Given the description of an element on the screen output the (x, y) to click on. 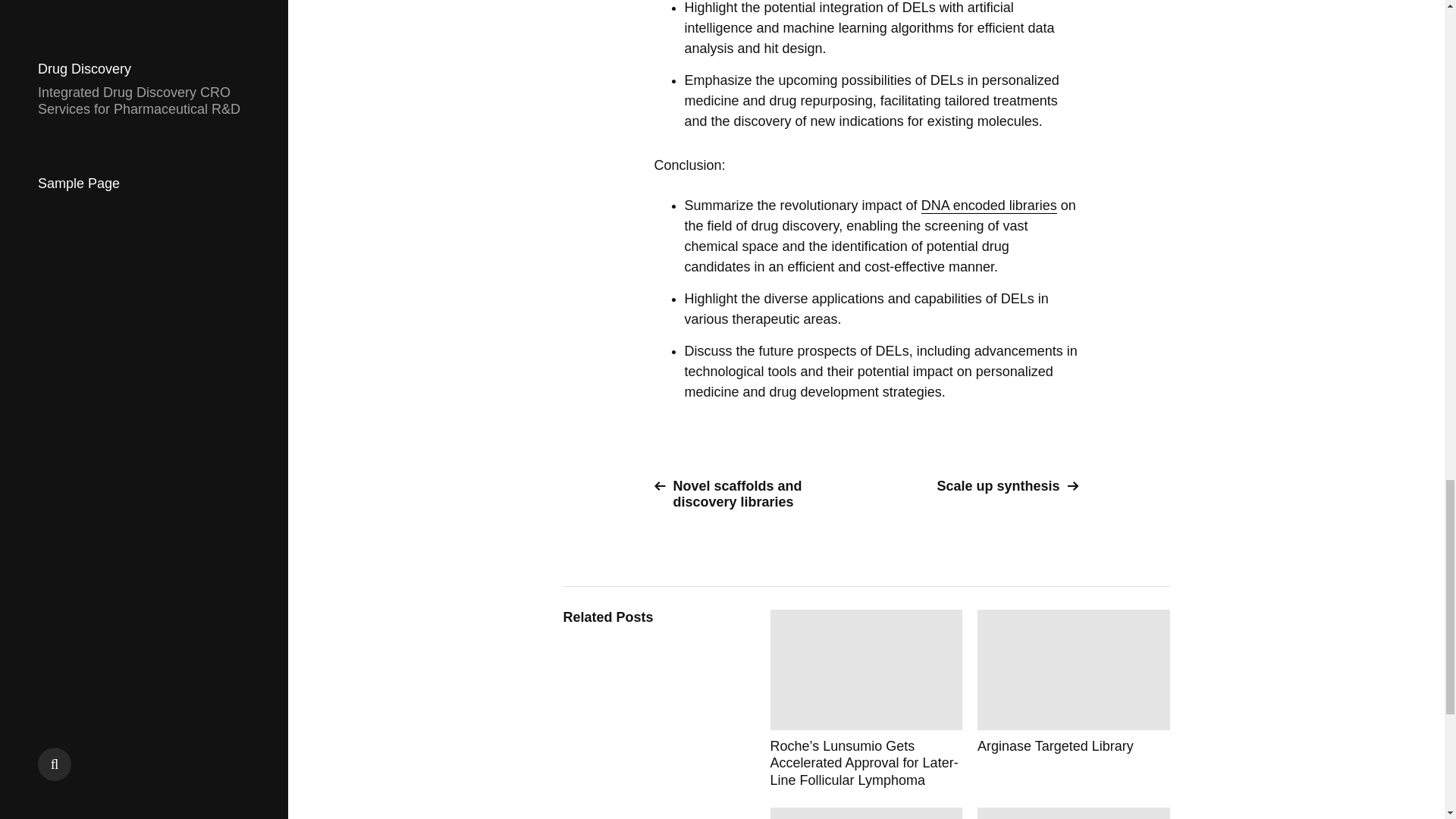
Arginase Targeted Library (1073, 698)
Novel scaffolds and discovery libraries (753, 494)
Scale up synthesis (977, 486)
SH2 Library (866, 813)
DNA encoded libraries (989, 205)
